Given the description of an element on the screen output the (x, y) to click on. 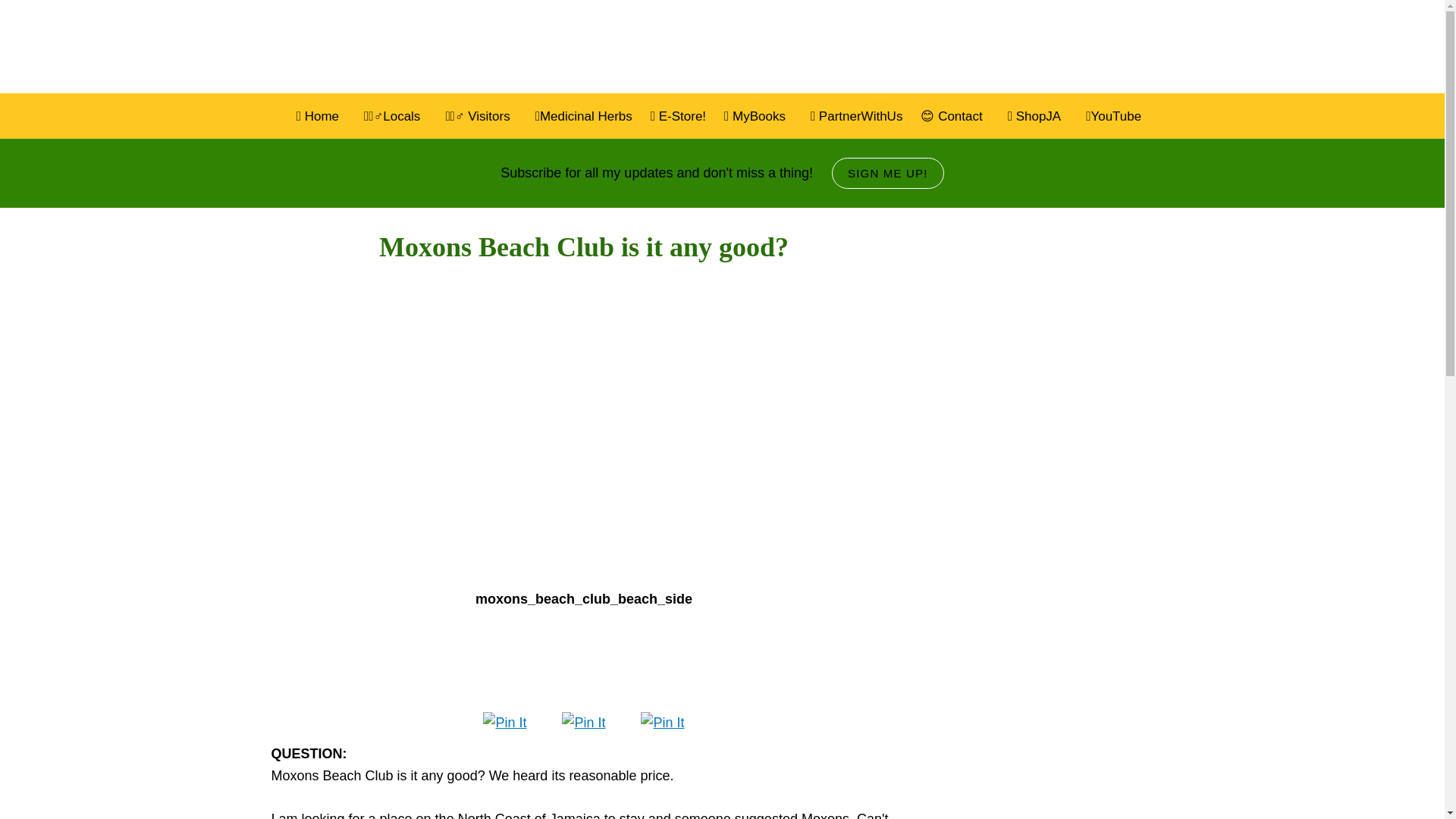
MY WEBSITE (423, 46)
Pin It (583, 722)
Pin It (662, 722)
Pin It (504, 722)
